Given the description of an element on the screen output the (x, y) to click on. 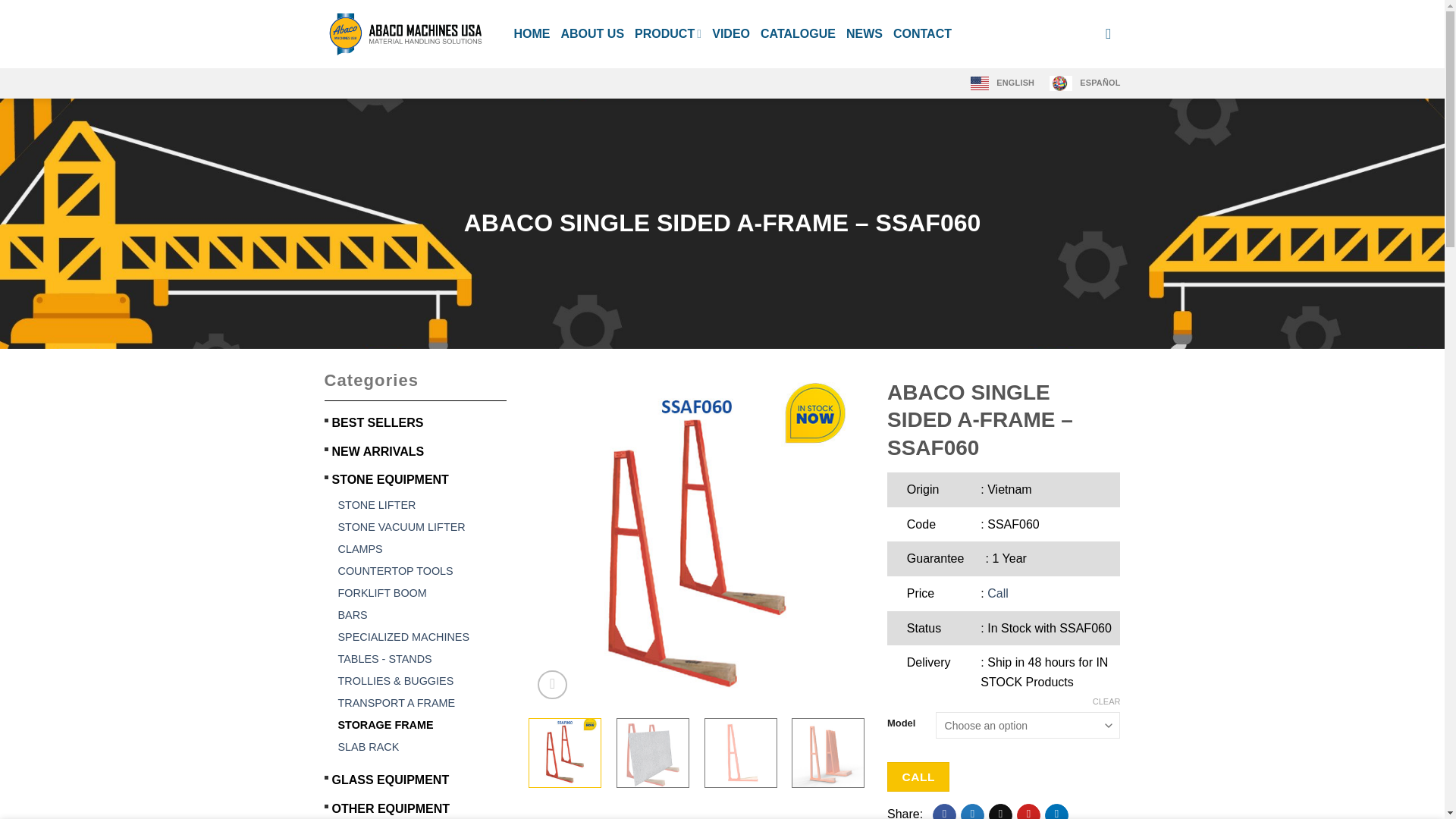
ABOUT US (592, 34)
Pin on Pinterest (1028, 811)
SSAF060-01 (696, 538)
ABACOMACHINES (408, 34)
PRODUCT (667, 33)
Share on Facebook (944, 811)
Share on Twitter (972, 811)
Zoom (552, 685)
Email to a Friend (999, 811)
SSAF060-02 (1031, 538)
